Given the description of an element on the screen output the (x, y) to click on. 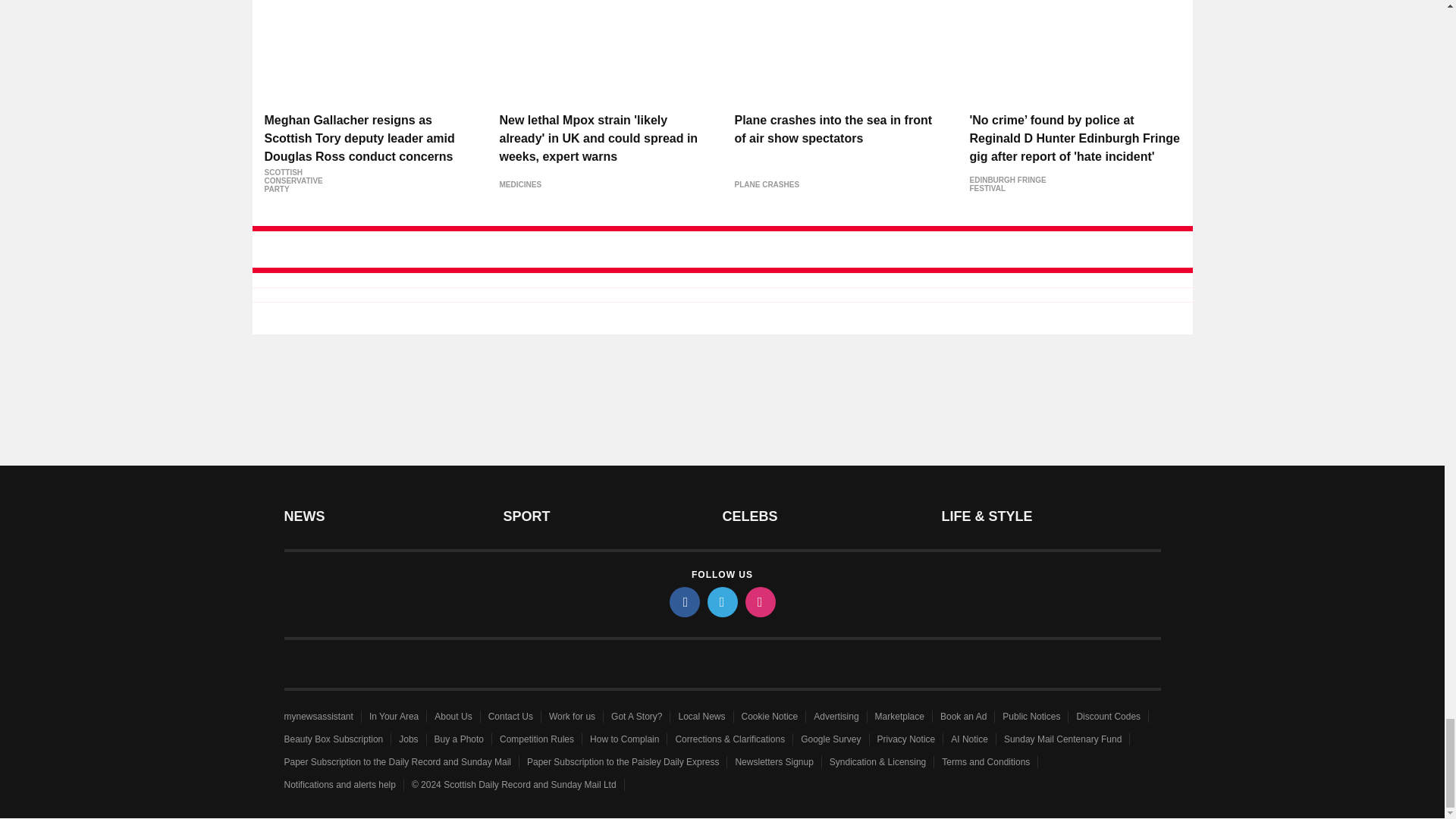
instagram (759, 602)
facebook (683, 602)
twitter (721, 602)
